Given the description of an element on the screen output the (x, y) to click on. 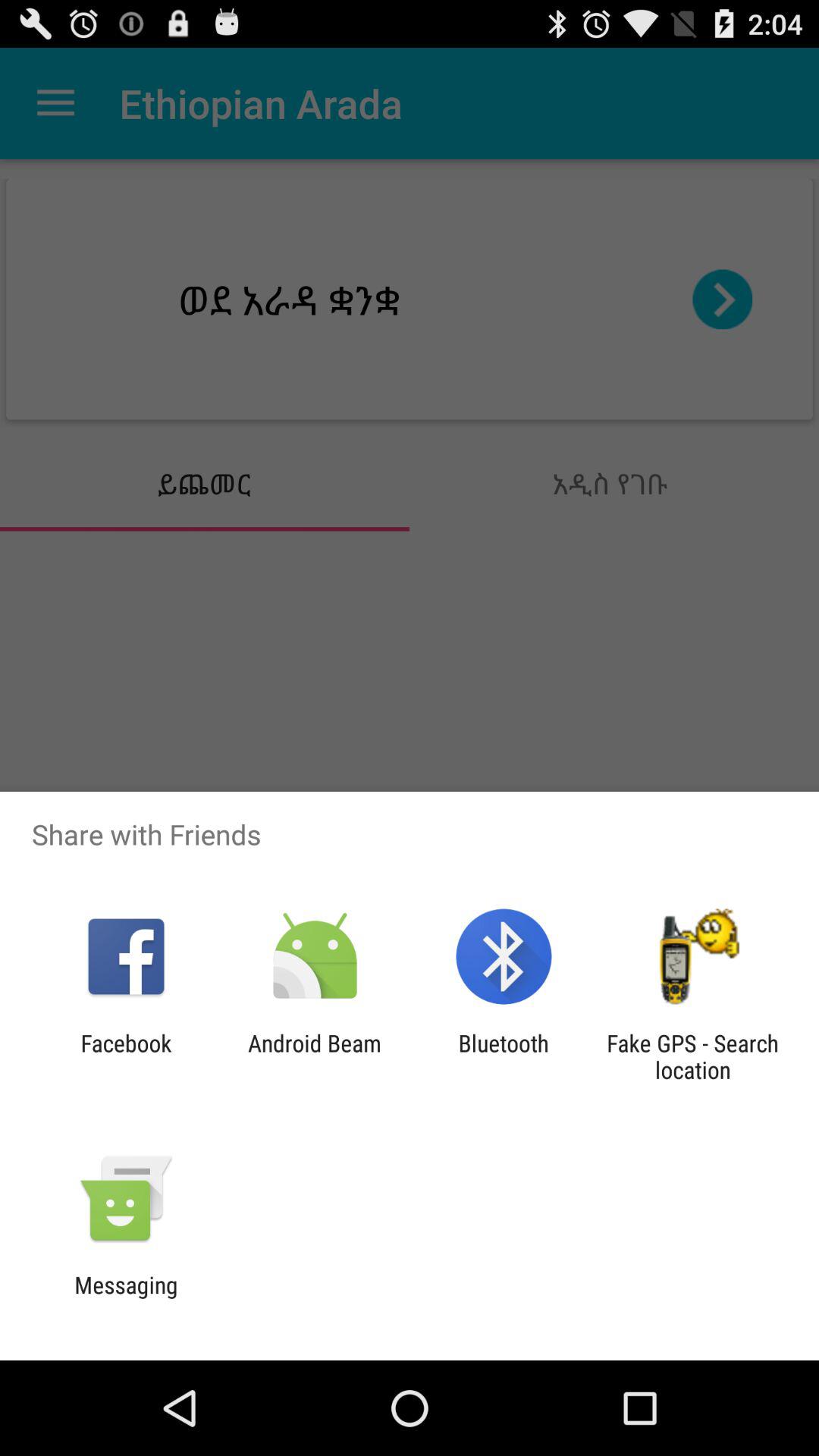
tap bluetooth (503, 1056)
